Given the description of an element on the screen output the (x, y) to click on. 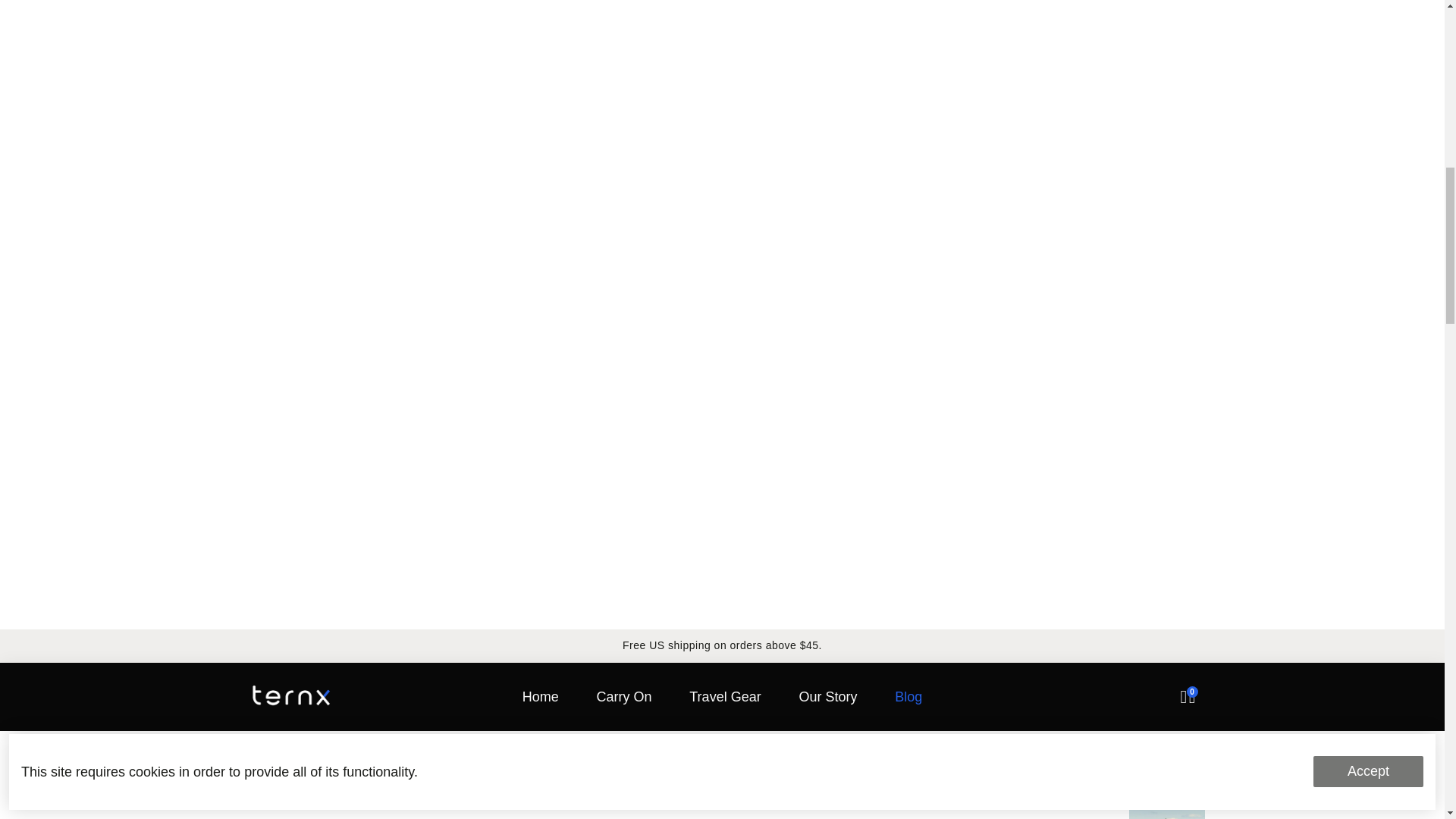
Travel Gear (725, 696)
Home (539, 696)
Our Story (827, 696)
Carry On (623, 696)
